Given the description of an element on the screen output the (x, y) to click on. 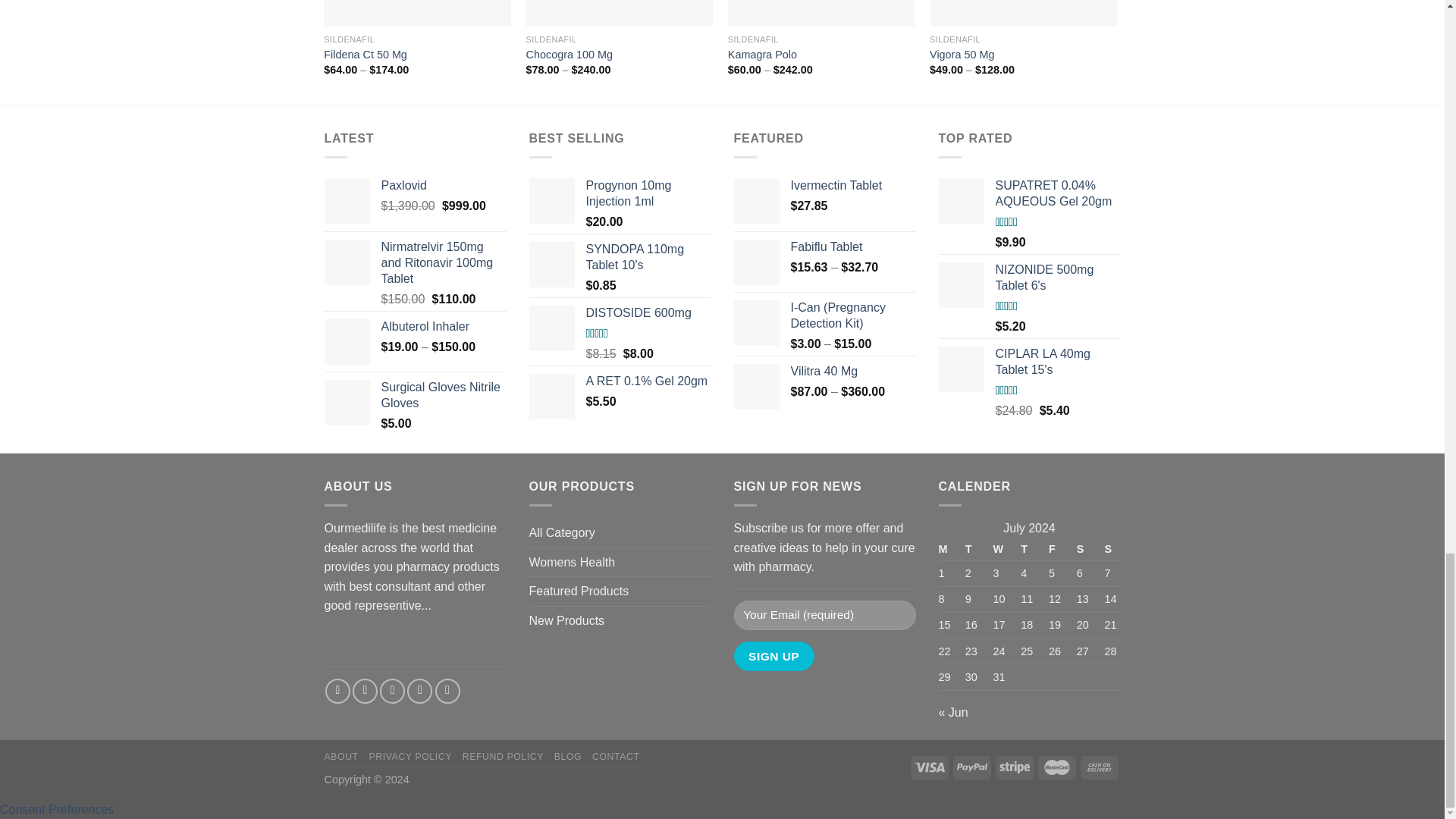
Sign Up (773, 655)
